Given the description of an element on the screen output the (x, y) to click on. 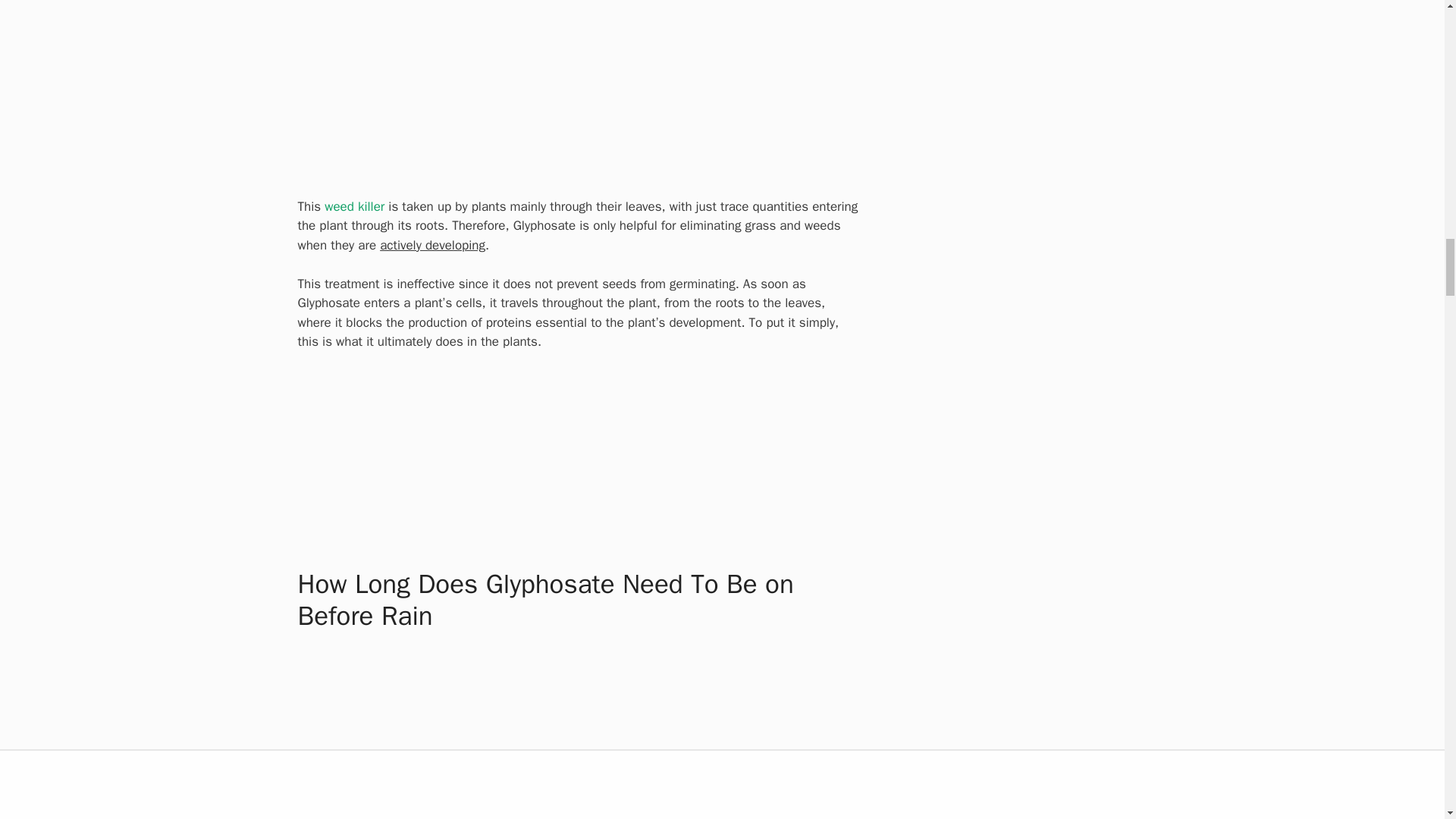
weed killer (354, 206)
